Given the description of an element on the screen output the (x, y) to click on. 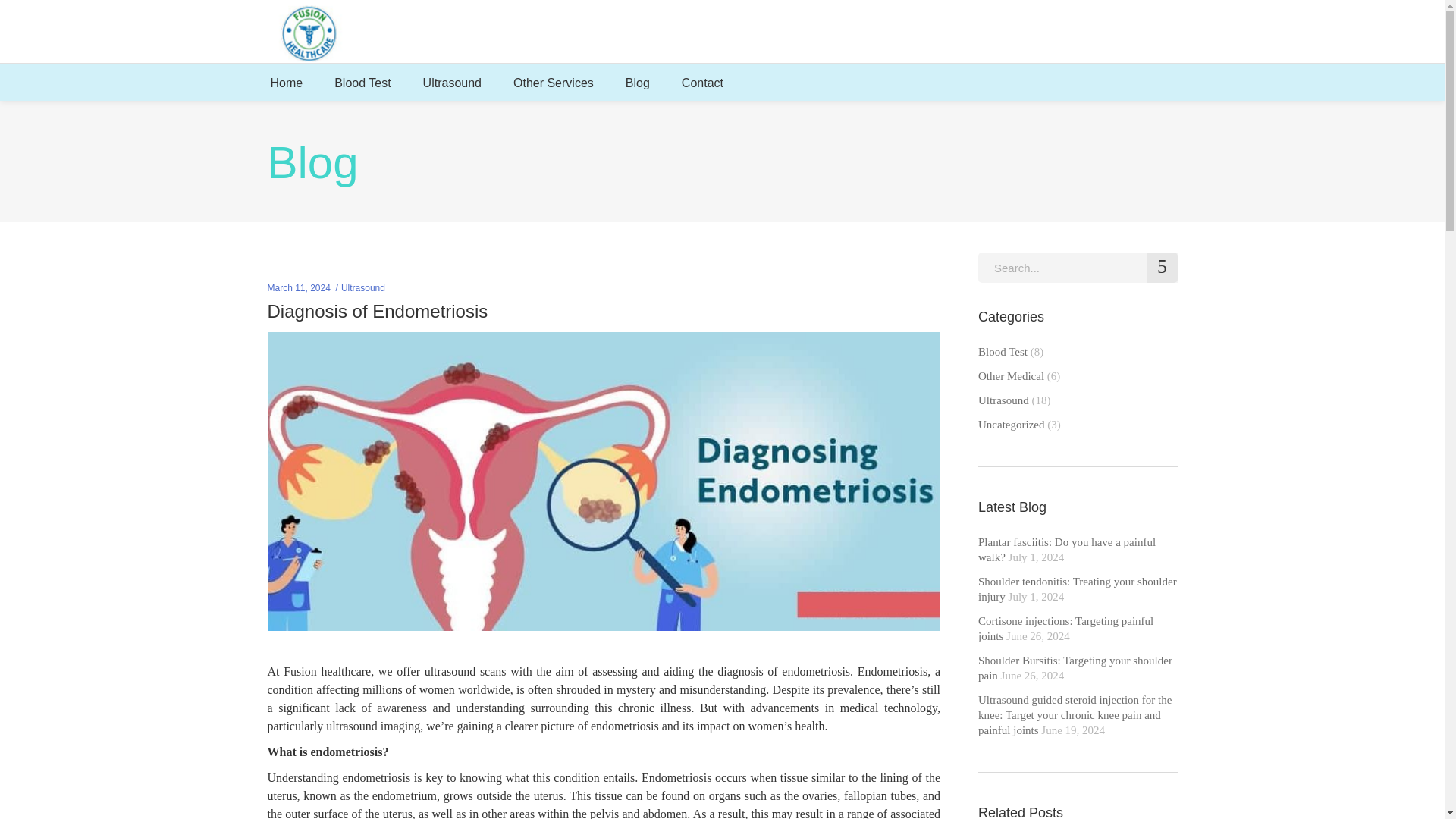
Search for: (1077, 267)
Blood Test (362, 81)
Home (286, 81)
